Given the description of an element on the screen output the (x, y) to click on. 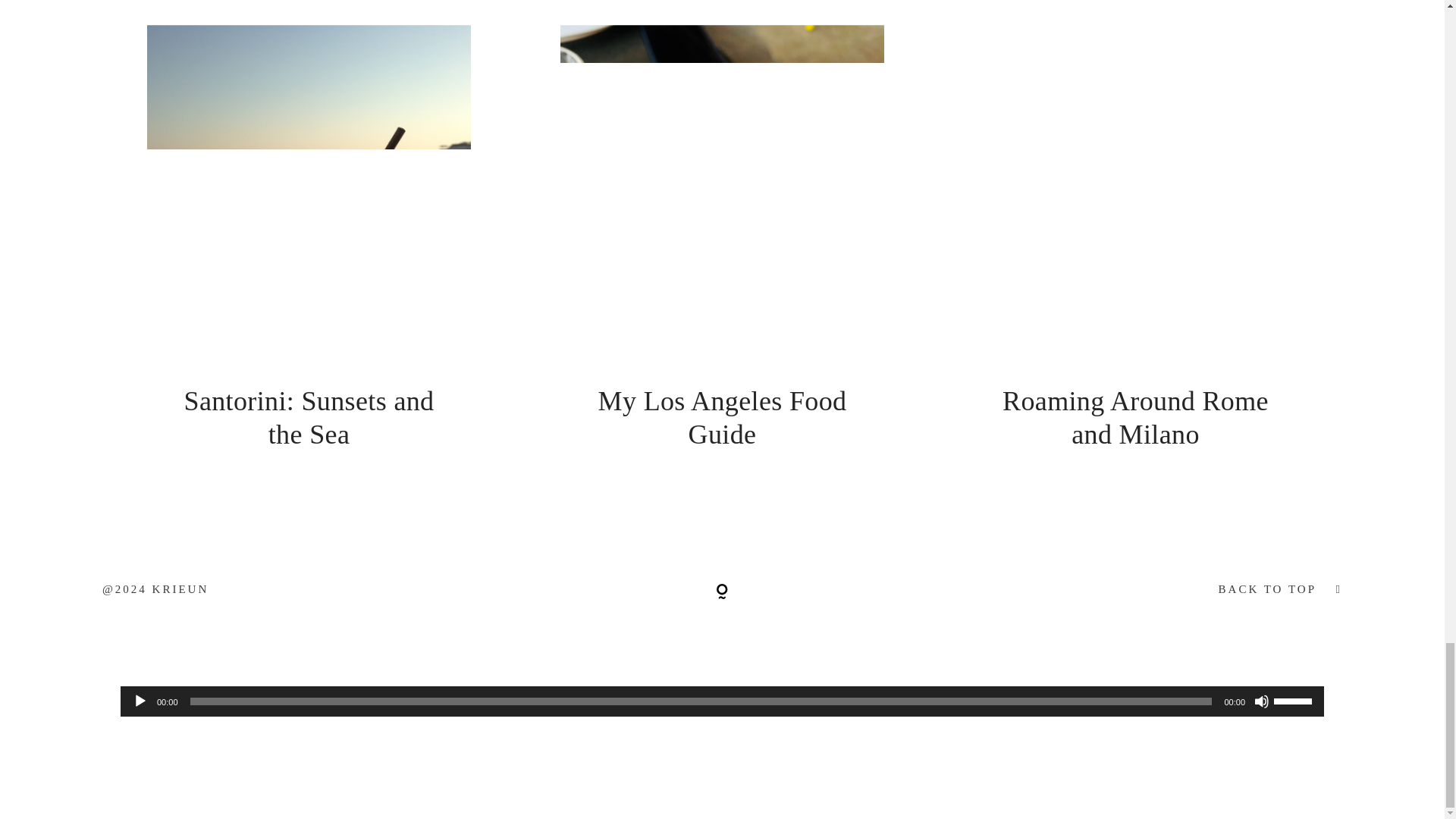
Mute (1261, 701)
Sorry, your browser does not support inline SVG. (721, 591)
Sorry, your browser does not support inline SVG. (721, 588)
BACK TO TOP (1135, 589)
Play (140, 701)
BACK TO TOP (1267, 589)
